Given the description of an element on the screen output the (x, y) to click on. 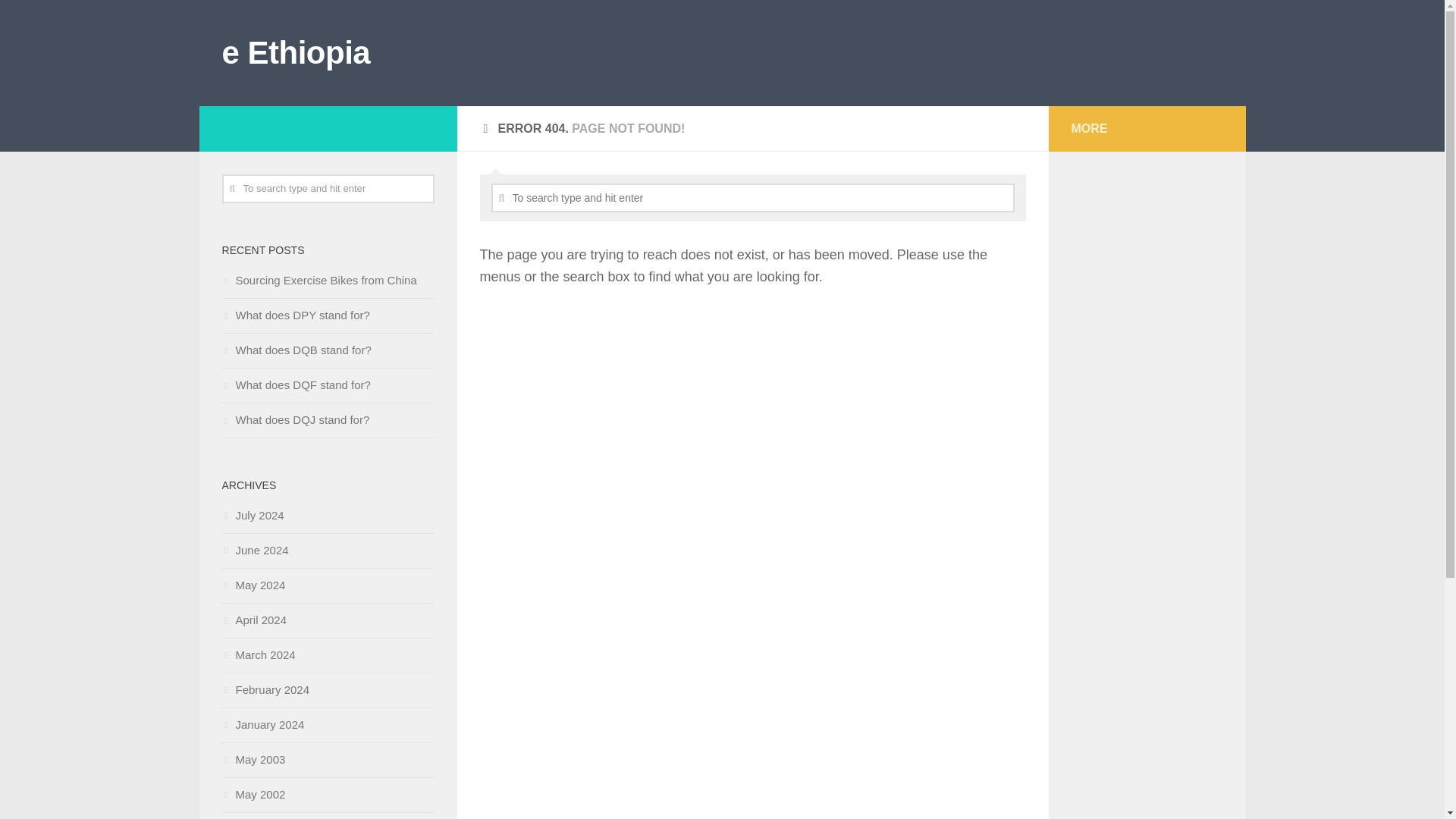
June 2024 (254, 549)
What does DQJ stand for? (295, 419)
March 2024 (258, 654)
What does DQF stand for? (295, 384)
To search type and hit enter (327, 188)
To search type and hit enter (753, 197)
Sourcing Exercise Bikes from China (318, 279)
May 2024 (253, 584)
To search type and hit enter (753, 197)
What does DPY stand for? (295, 314)
January 2024 (262, 724)
May 2003 (253, 758)
February 2024 (264, 689)
To search type and hit enter (327, 188)
May 2002 (253, 793)
